Given the description of an element on the screen output the (x, y) to click on. 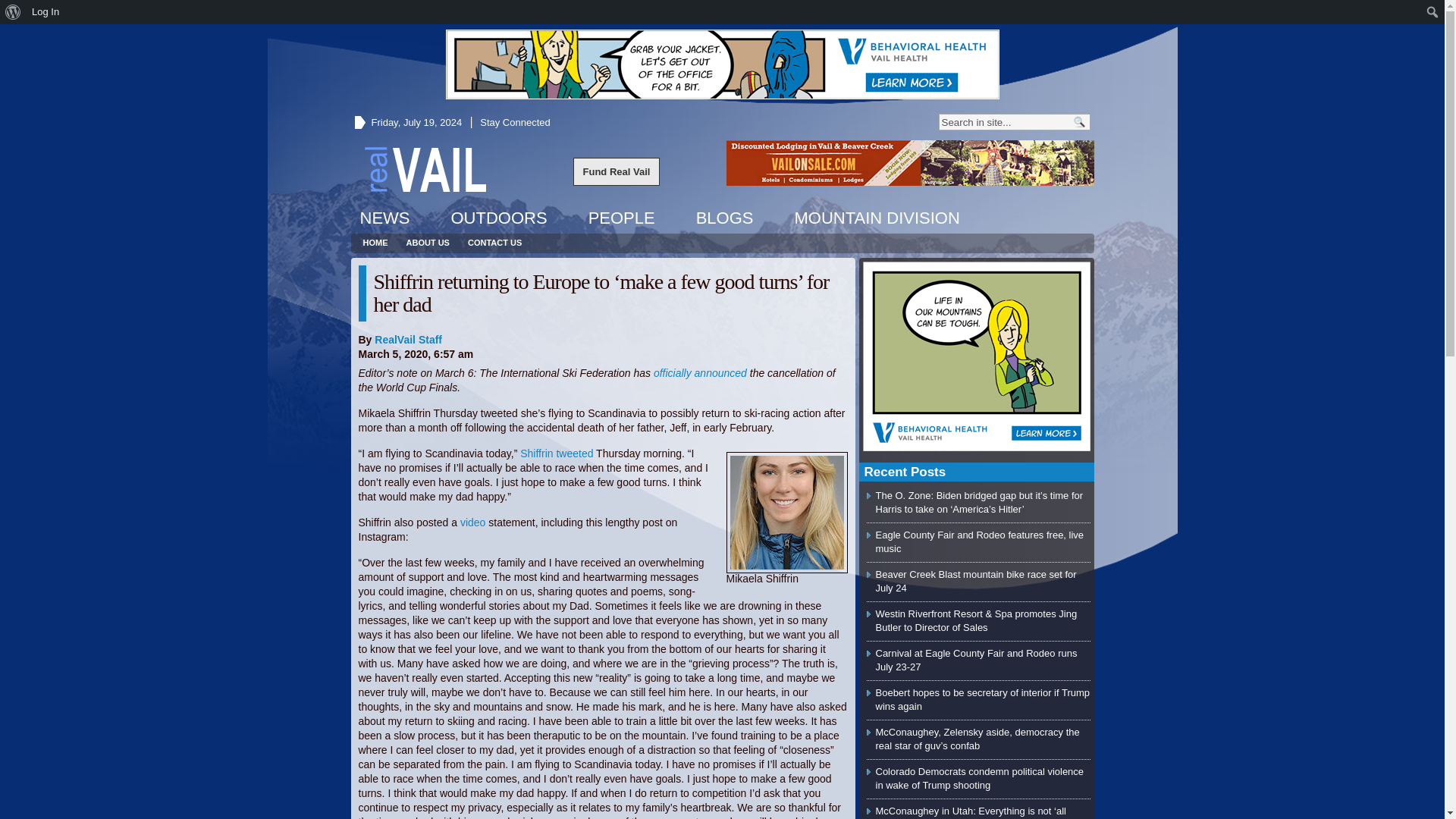
video (473, 522)
HOME (374, 242)
Fund Real Vail (617, 171)
Posts by RealVail Staff (408, 339)
RealVail Staff (408, 339)
Real Vail (424, 168)
CONTACT US (494, 242)
OUTDOORS (498, 217)
officially announced (699, 372)
Stay Connected (515, 122)
MOUNTAIN DIVISION (876, 217)
ABOUT US (427, 242)
NEWS (384, 217)
Shiffrin tweeted (555, 453)
Search in site... (1004, 121)
